Given the description of an element on the screen output the (x, y) to click on. 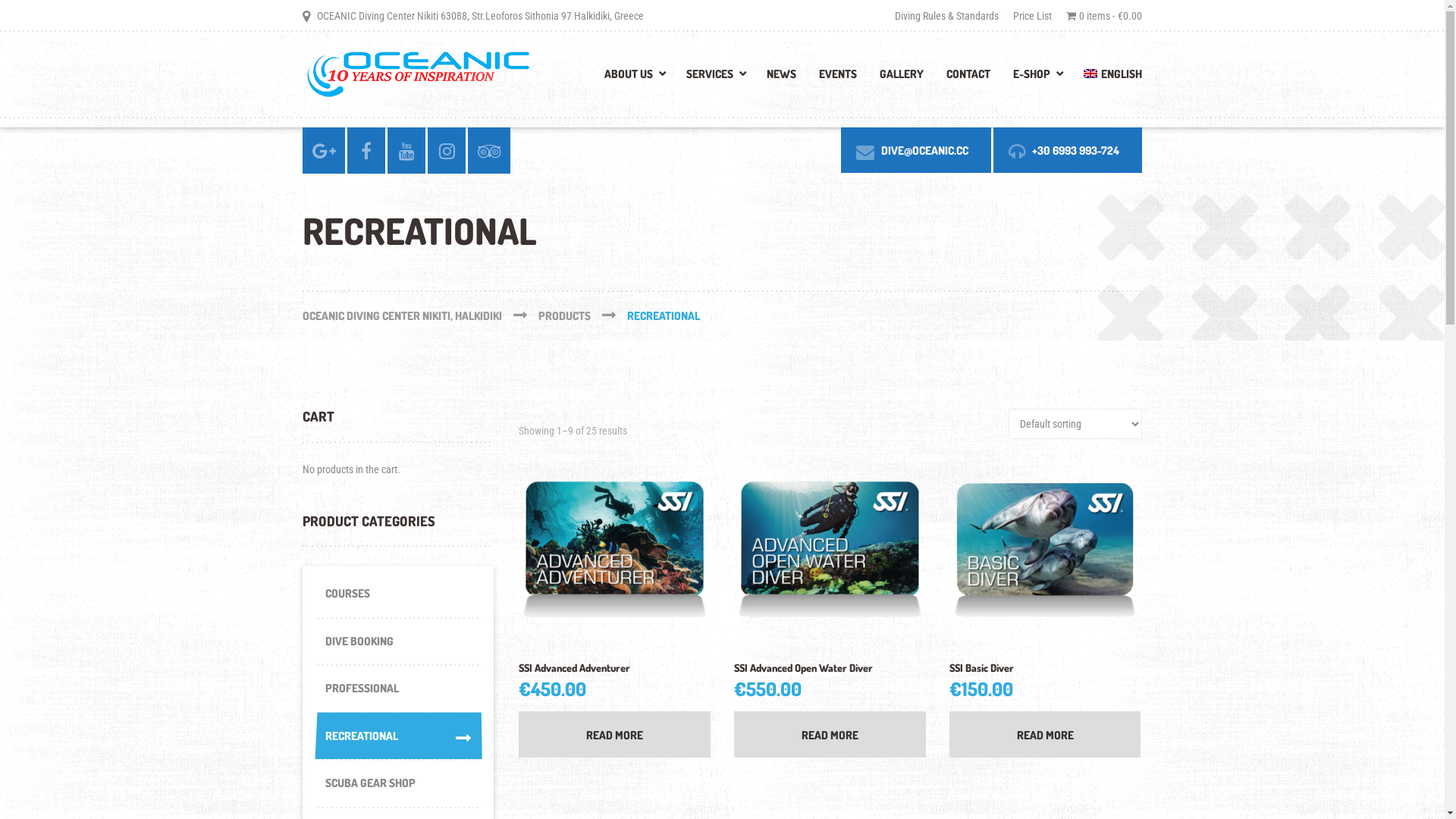
GALLERY Element type: text (901, 79)
English Element type: hover (1090, 73)
ABOUT US Element type: text (633, 79)
PRODUCTS Element type: text (582, 315)
CONTACT Element type: text (968, 79)
Price List Element type: text (1032, 15)
SERVICES Element type: text (714, 79)
DIVE BOOKING Element type: text (397, 641)
OCEANIC DIVING CENTER NIKITI, HALKIDIKI Element type: text (420, 315)
ENGLISH Element type: text (1106, 79)
READ MORE Element type: text (614, 734)
READ MORE Element type: text (1045, 734)
PROFESSIONAL Element type: text (397, 688)
EVENTS Element type: text (837, 79)
NEWS Element type: text (781, 79)
E-SHOP Element type: text (1036, 79)
SCUBA GEAR SHOP Element type: text (397, 783)
RECREATIONAL
RECREATIONAL Element type: text (397, 736)
COURSES Element type: text (397, 593)
Diving Rules & Standards Element type: text (949, 15)
READ MORE Element type: text (829, 734)
